Given the description of an element on the screen output the (x, y) to click on. 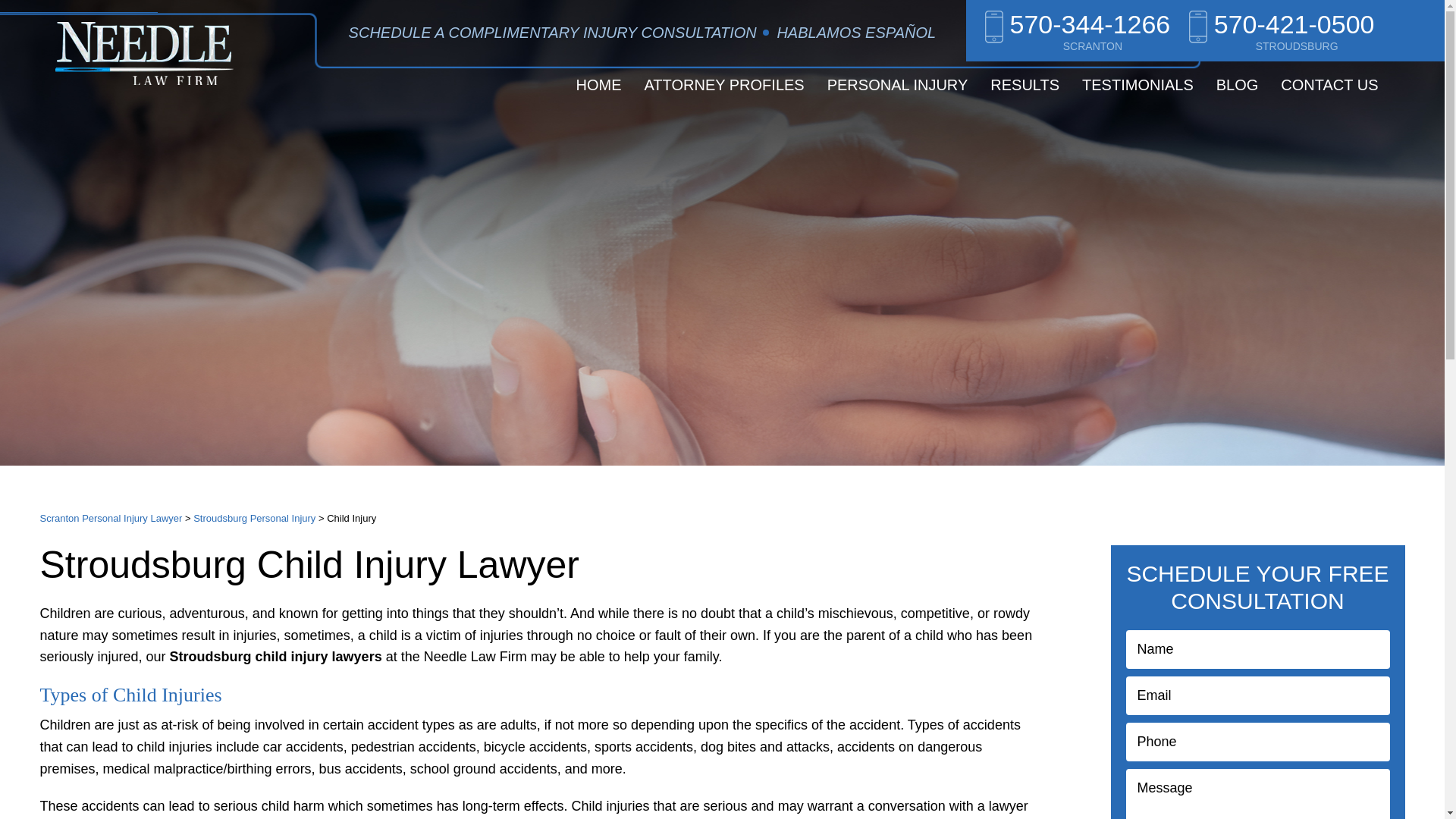
HOME (598, 84)
PERSONAL INJURY (897, 84)
ATTORNEY PROFILES (724, 84)
RESULTS (1024, 84)
TESTIMONIALS (1137, 84)
CONTACT US (1329, 84)
BLOG (1237, 84)
570-421-0500 (1281, 20)
570-344-1266 (1077, 20)
